Given the description of an element on the screen output the (x, y) to click on. 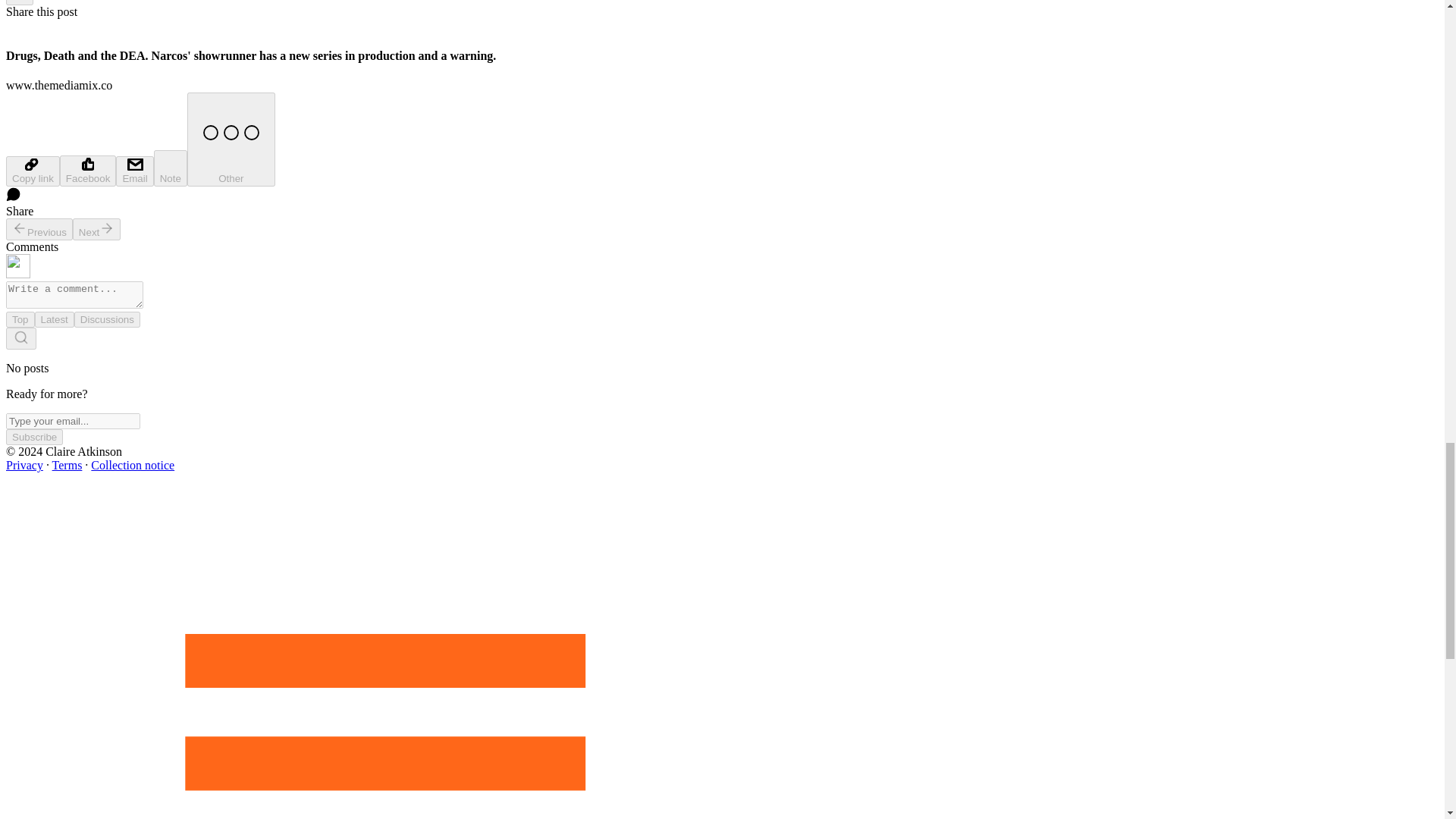
Email (134, 171)
Copy link (32, 171)
Discussions (106, 319)
Previous (38, 229)
Latest (54, 319)
Note (170, 167)
Facebook (87, 170)
Other (231, 139)
Next (96, 229)
Top (19, 319)
